Given the description of an element on the screen output the (x, y) to click on. 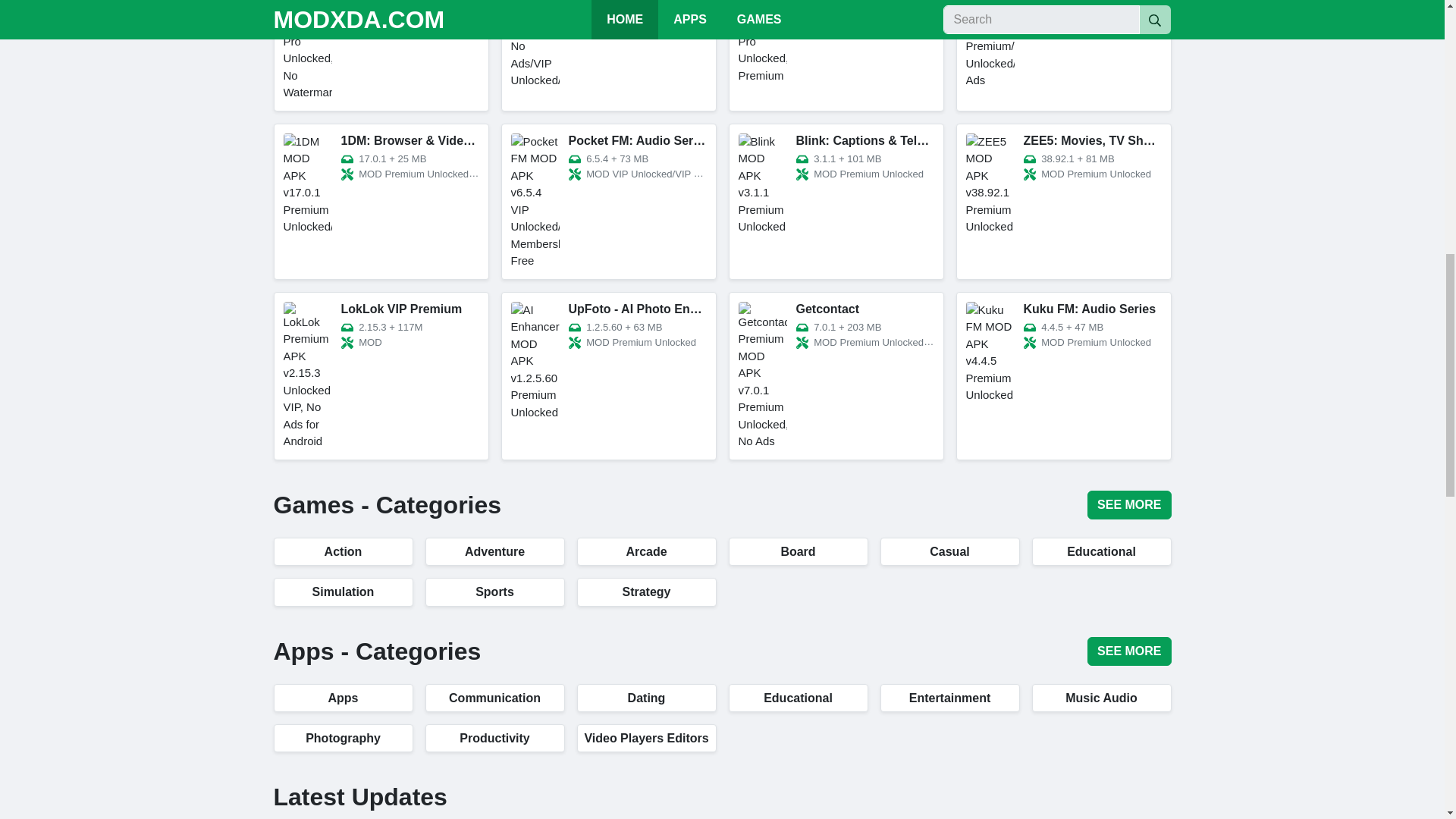
Adventure (494, 551)
SEE MORE (1128, 504)
Games - Categories (386, 504)
Arcade (646, 551)
Blink MOD APK v3.1.1 Premium Unlocked (835, 201)
FaceApp Pro MOD APK v12.2.1 Pro Unlocked, No Watermark (380, 55)
Action (342, 551)
Imagine MOD APK v5.0.0 Pro Unlocked, Premium (835, 55)
